Given the description of an element on the screen output the (x, y) to click on. 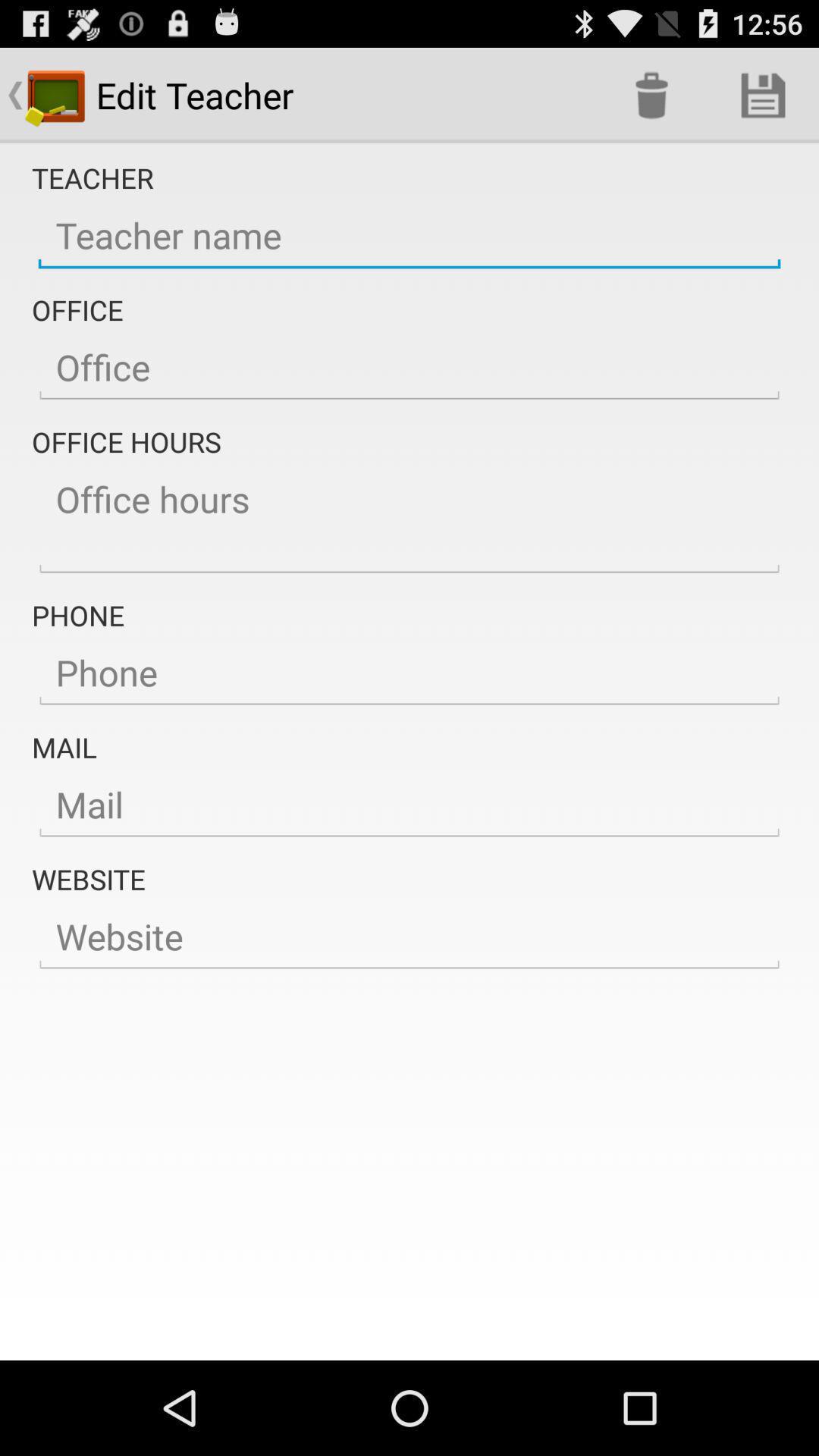
go back (409, 805)
